Given the description of an element on the screen output the (x, y) to click on. 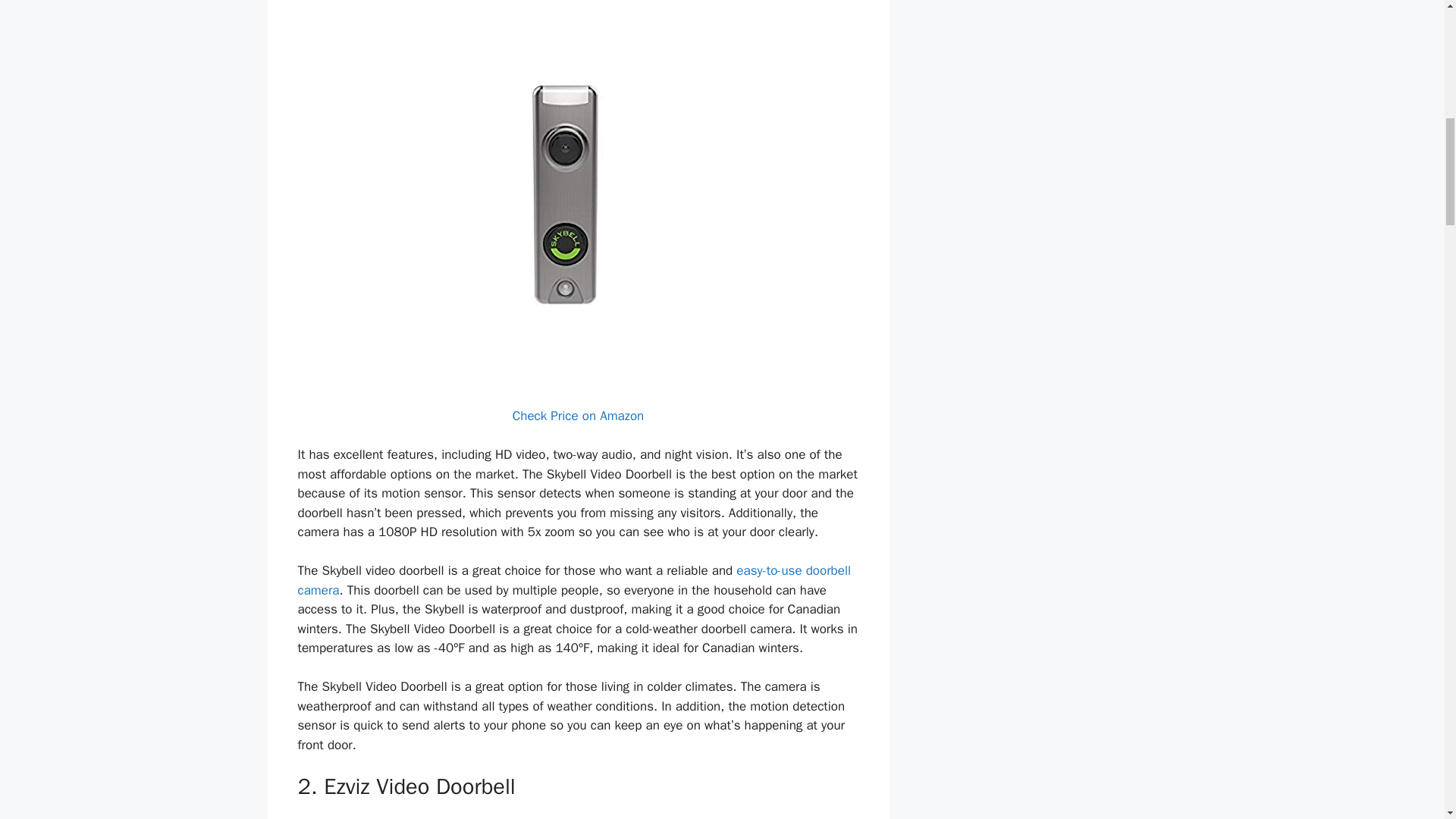
easy-to-use doorbell camera (573, 580)
Check Price on Amazon (578, 415)
